Given the description of an element on the screen output the (x, y) to click on. 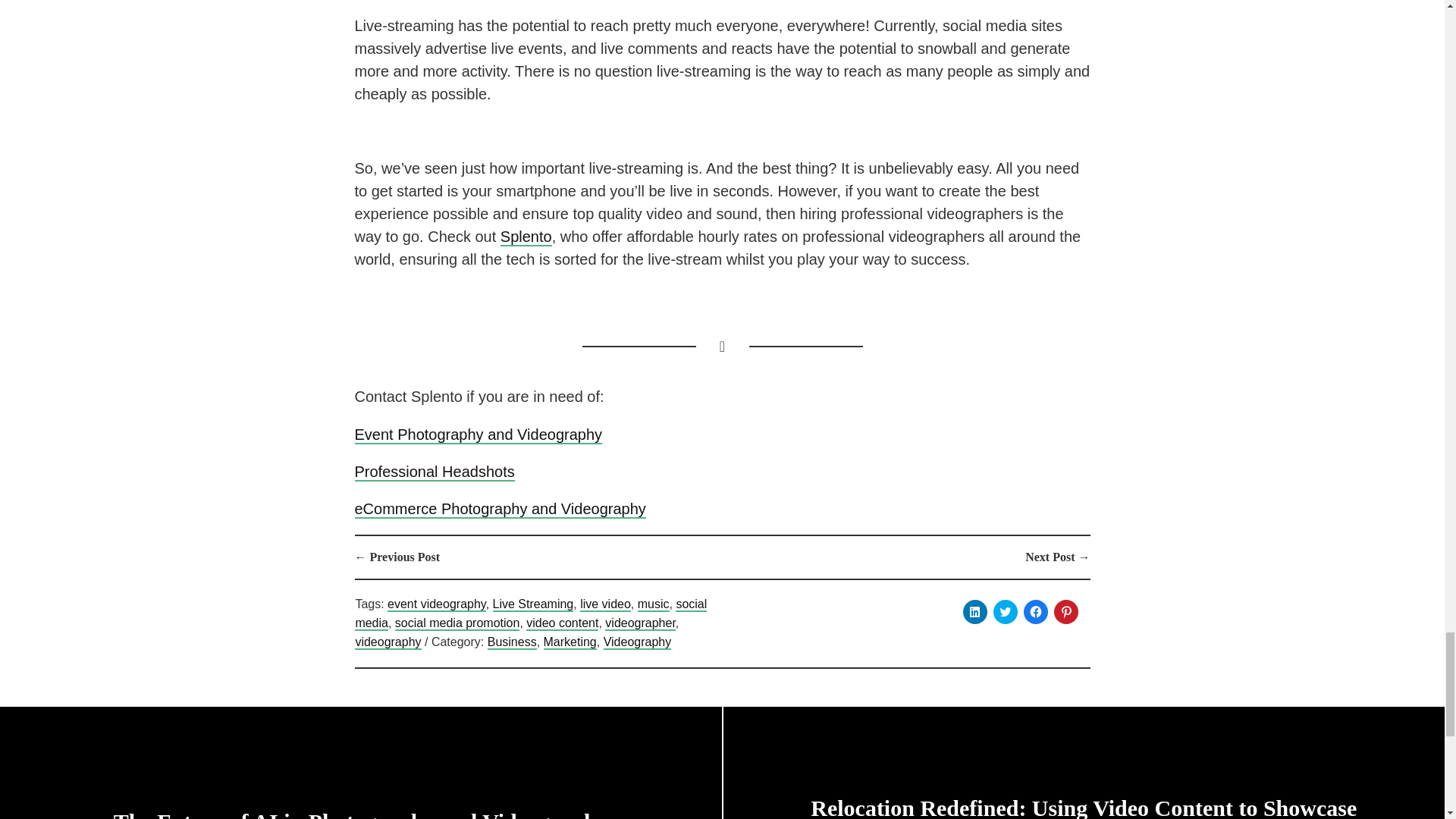
Event Photography and Videography (478, 434)
eCommerce Photography and Videography (500, 509)
Professional Headshots (435, 472)
Click to share on LinkedIn (974, 611)
Click to share on Facebook (1035, 611)
Click to share on Twitter (1004, 611)
live video (604, 604)
Splento (525, 237)
Click to share on Pinterest (1066, 611)
Live Streaming (533, 604)
event videography (436, 604)
